Given the description of an element on the screen output the (x, y) to click on. 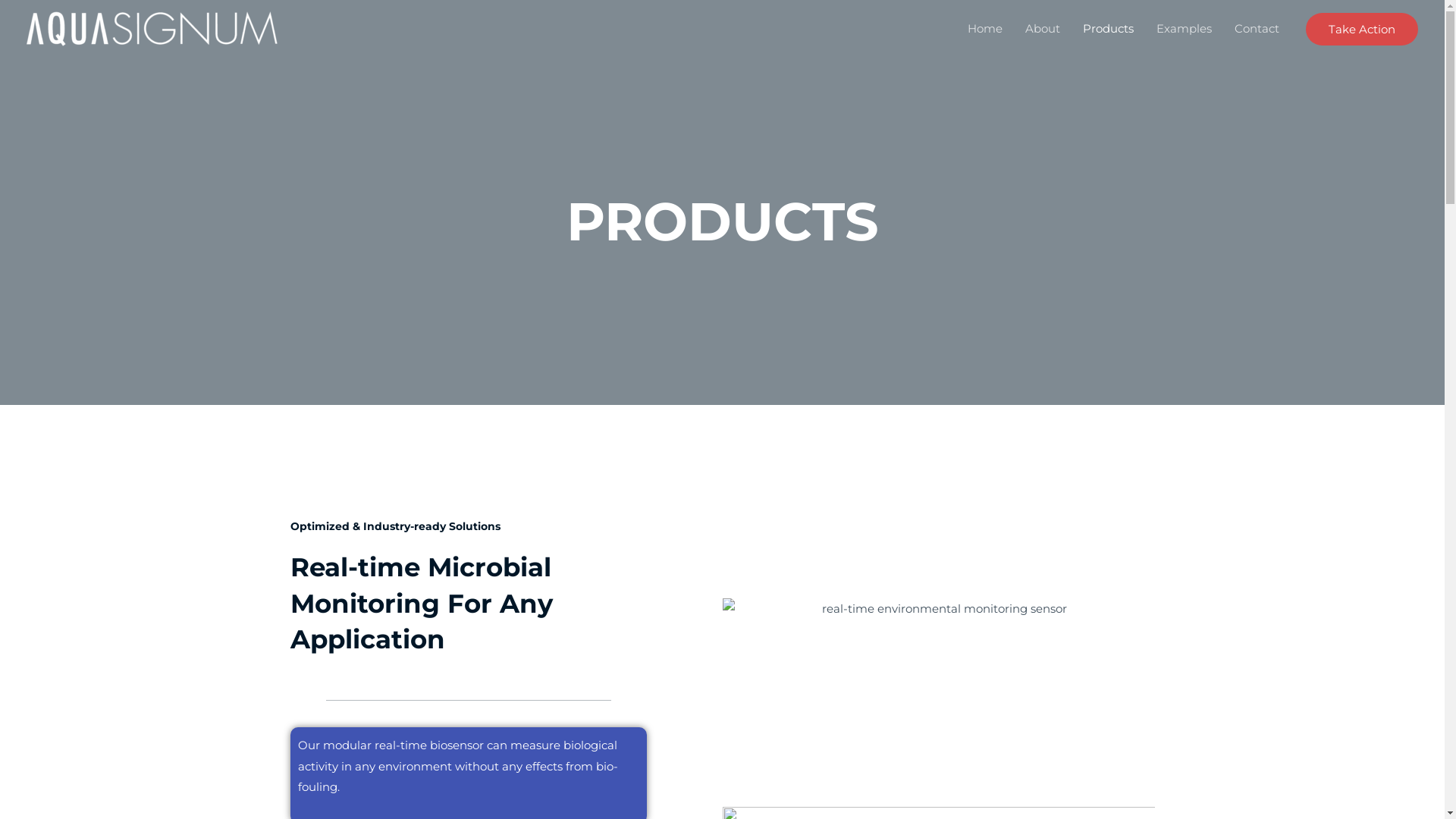
Examples Element type: text (1184, 28)
Products Element type: text (1108, 28)
Take Action Element type: text (1361, 28)
Contact Element type: text (1256, 28)
Home Element type: text (984, 28)
About Element type: text (1042, 28)
